Given the description of an element on the screen output the (x, y) to click on. 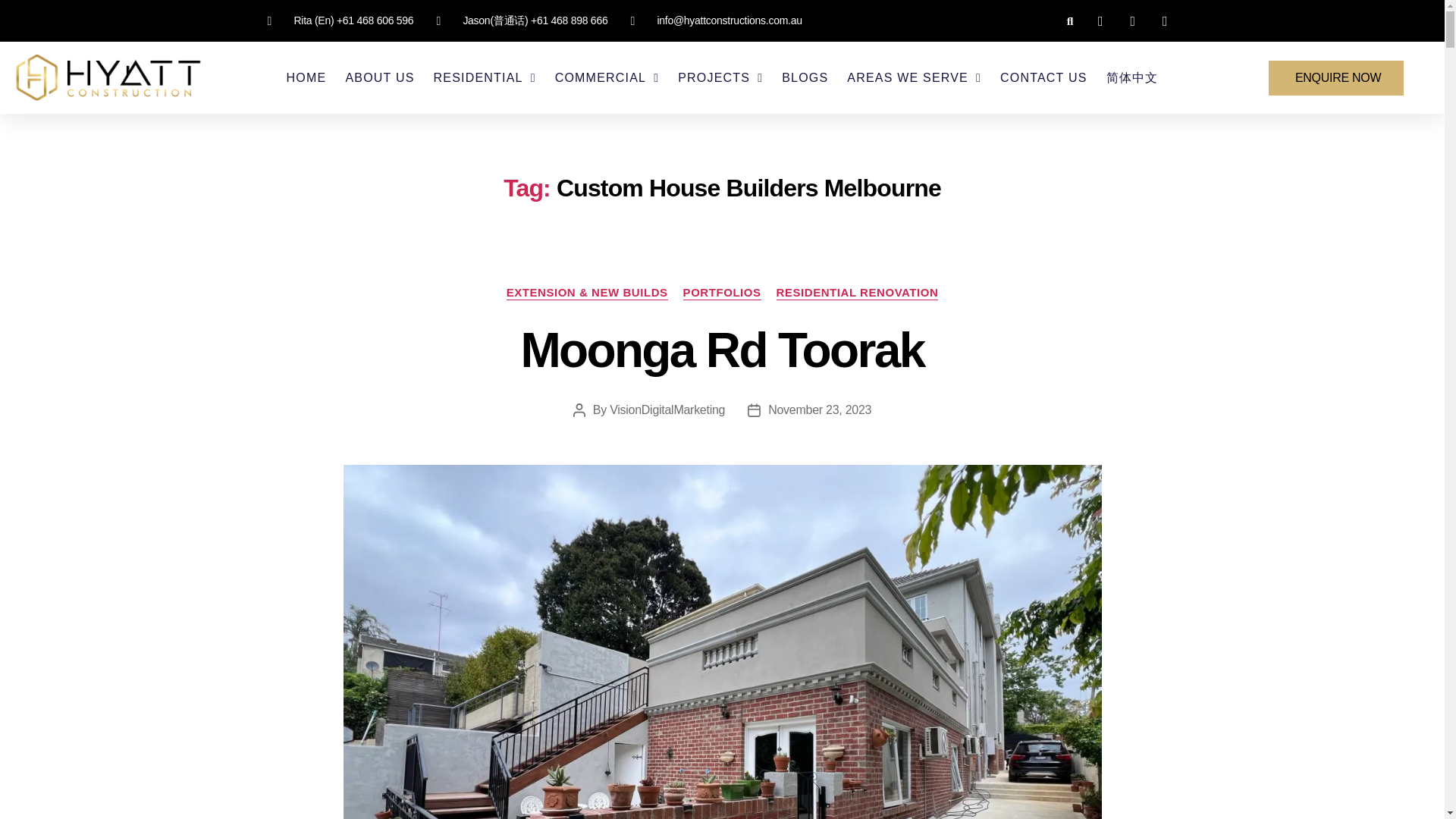
PROJECTS (720, 77)
AREAS WE SERVE (914, 77)
HOME (306, 77)
CONTACT US (1043, 77)
ABOUT US (379, 77)
COMMERCIAL (606, 77)
BLOGS (804, 77)
RESIDENTIAL (484, 77)
